Given the description of an element on the screen output the (x, y) to click on. 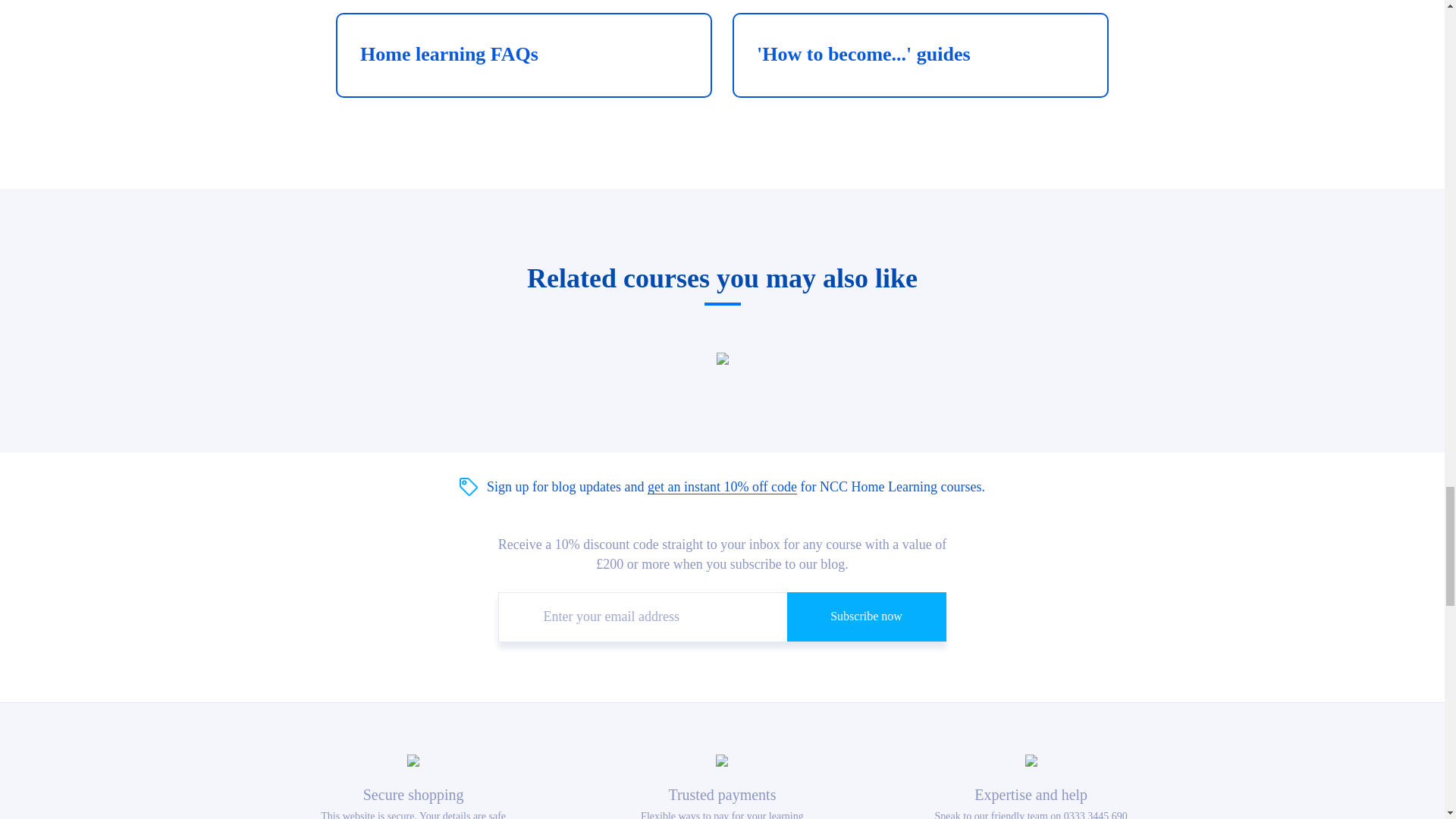
Home learning FAQs (523, 55)
Subscribe now (866, 616)
'How to become...' guides (920, 55)
